Given the description of an element on the screen output the (x, y) to click on. 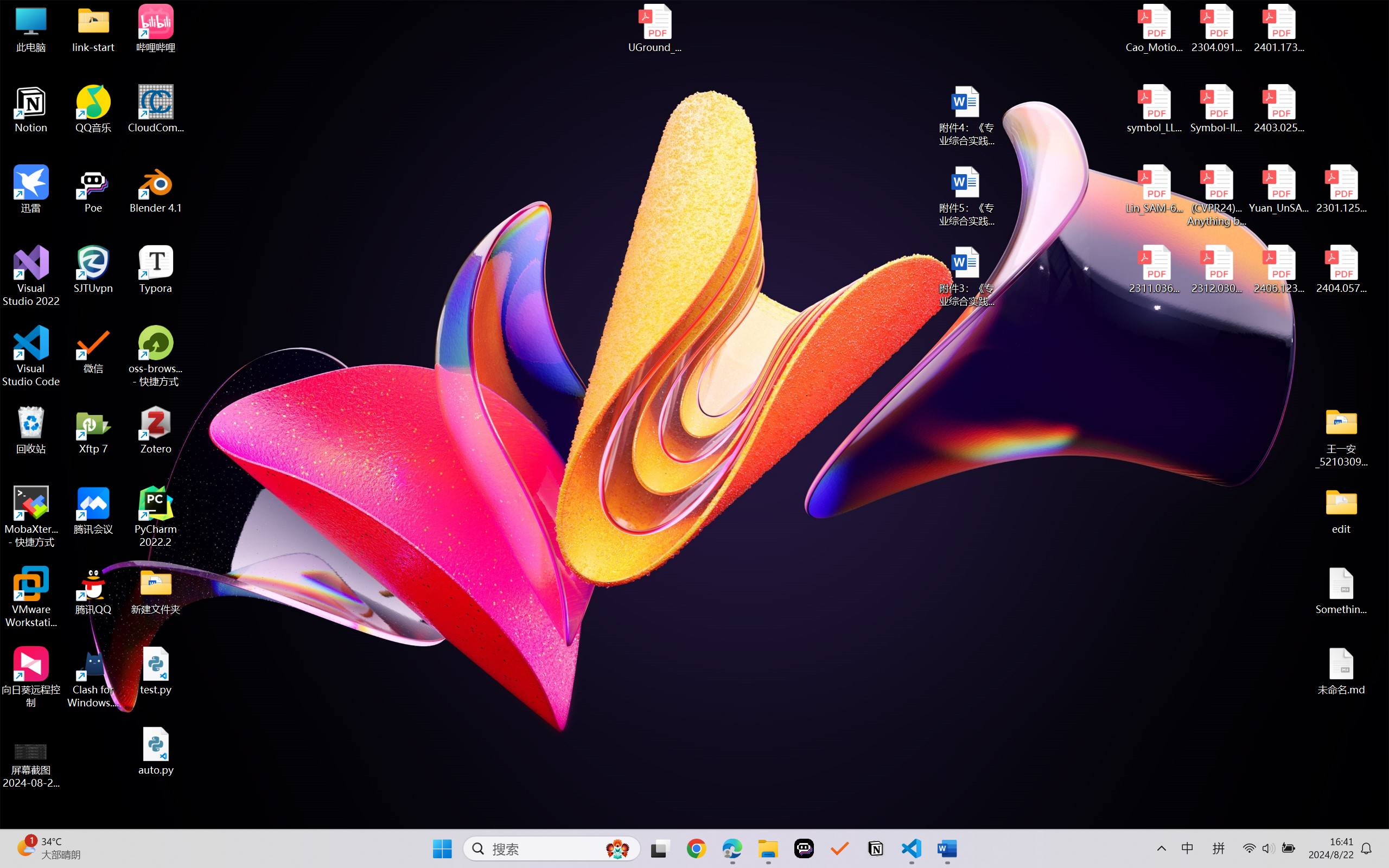
VMware Workstation Pro (31, 597)
Xftp 7 (93, 430)
Visual Studio Code (31, 355)
Poe (93, 189)
test.py (156, 670)
Visual Studio 2022 (31, 276)
SJTUvpn (93, 269)
